Given the description of an element on the screen output the (x, y) to click on. 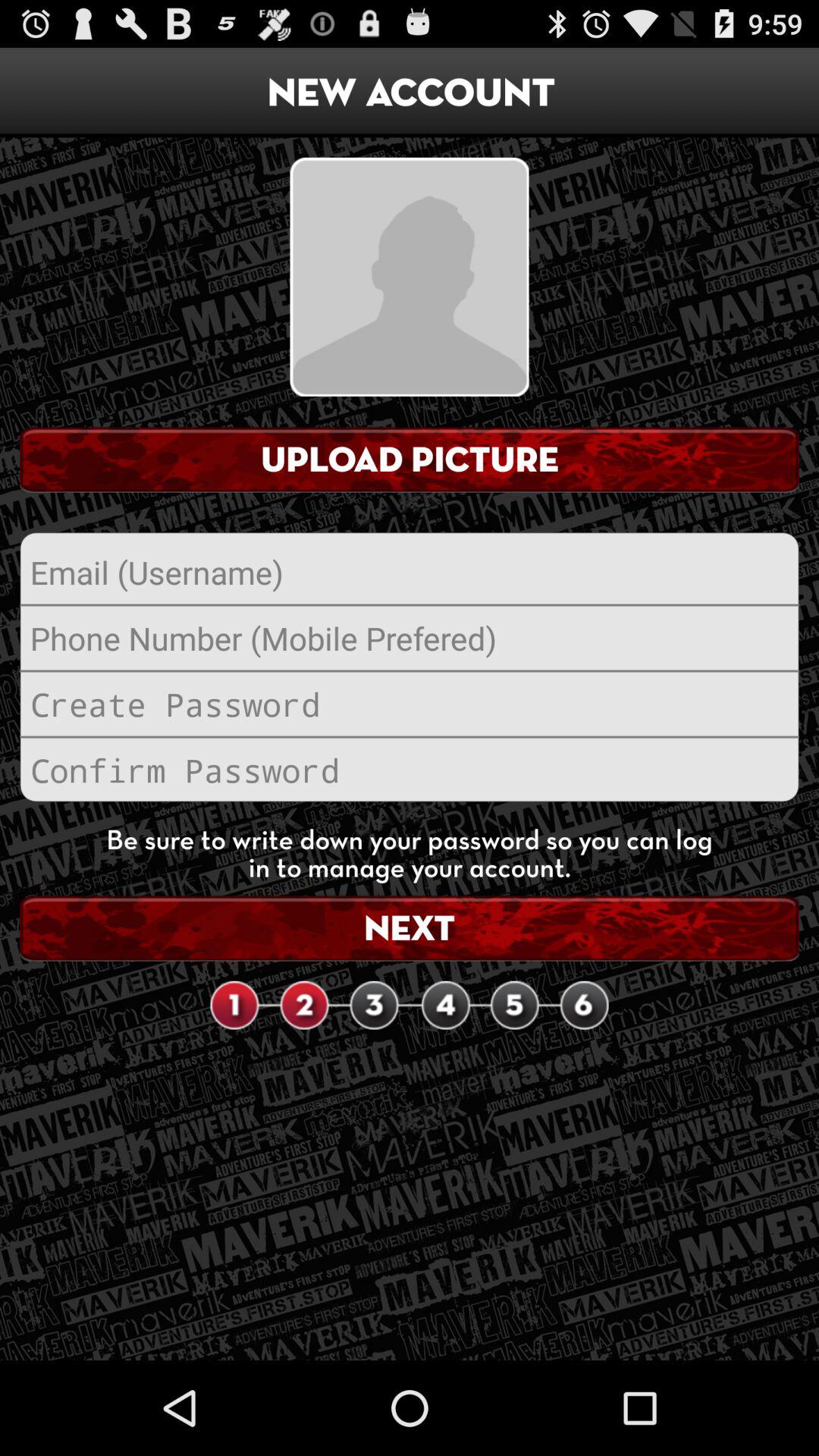
enter confirmation password (409, 769)
